Given the description of an element on the screen output the (x, y) to click on. 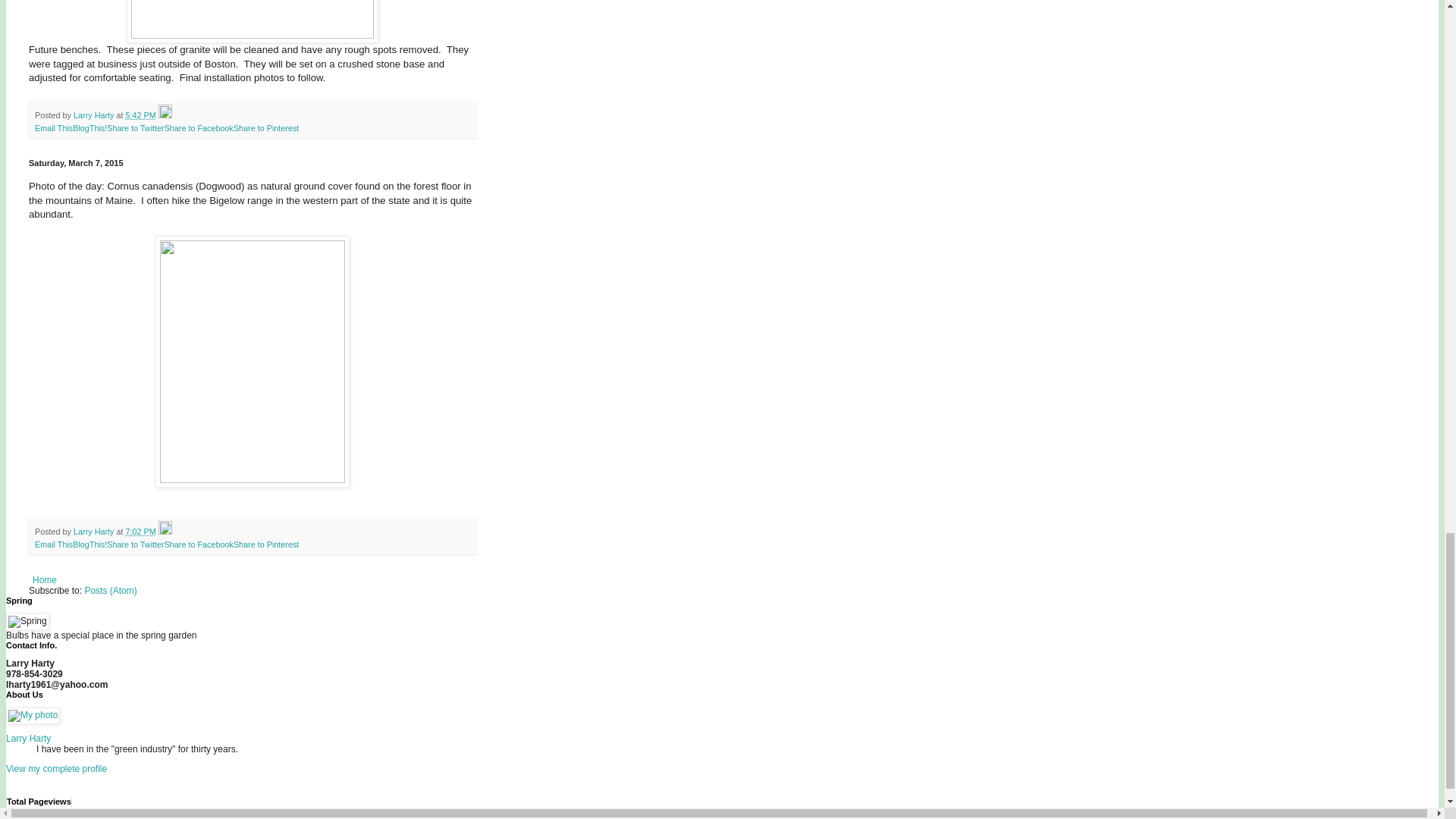
Larry Harty (95, 114)
5:42 PM (140, 114)
